Given the description of an element on the screen output the (x, y) to click on. 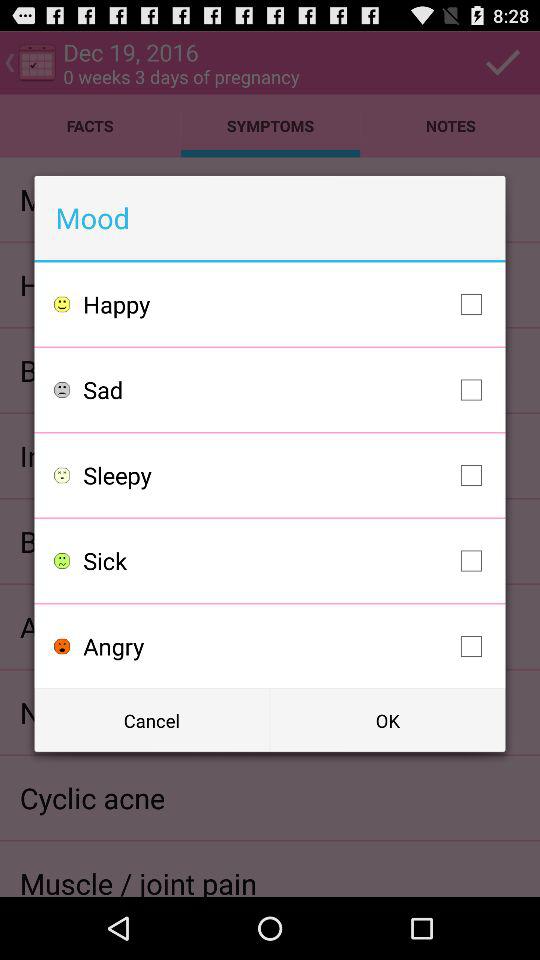
open the icon below angry icon (387, 720)
